Given the description of an element on the screen output the (x, y) to click on. 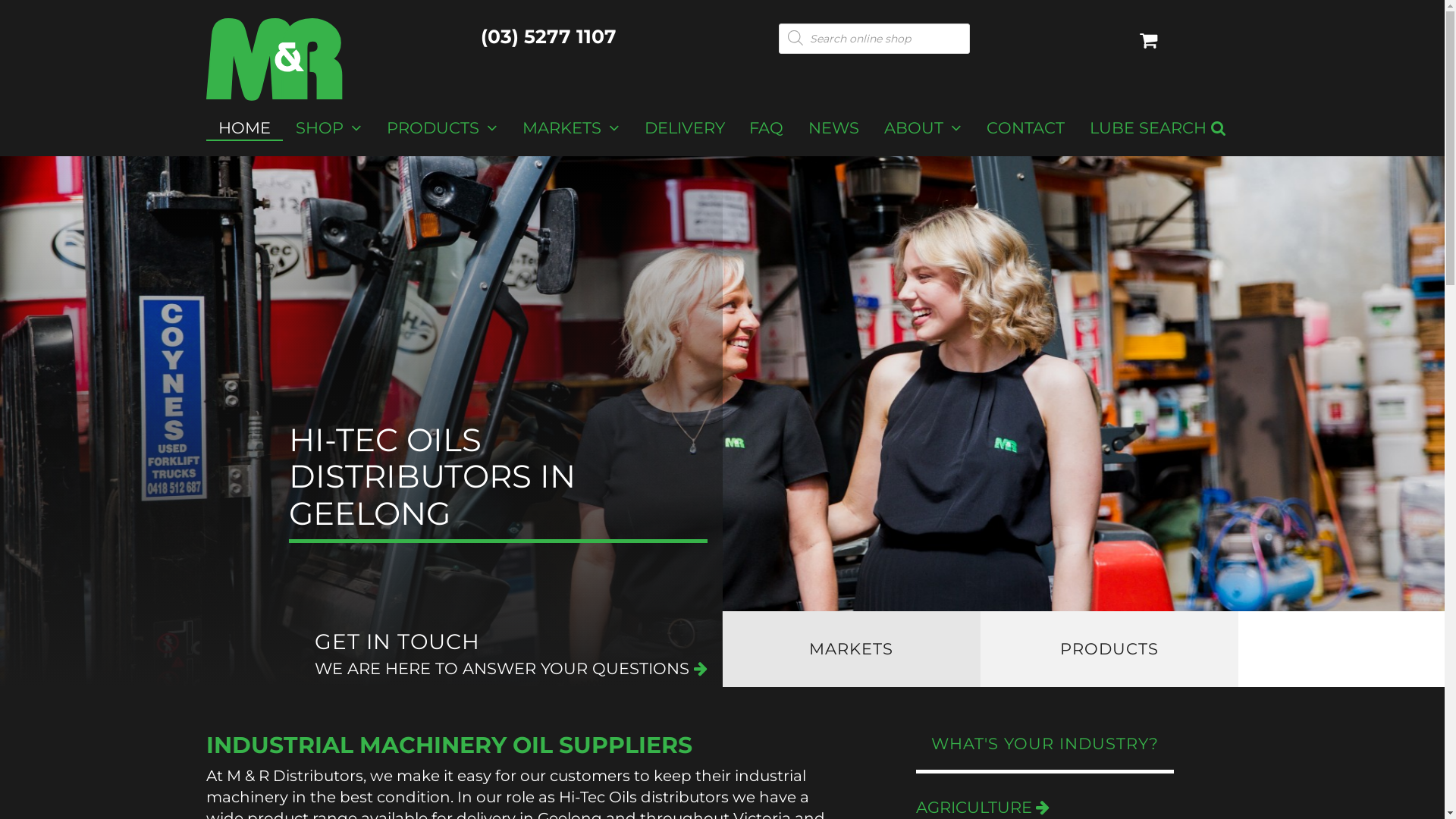
LUBE SEARCH Element type: text (1158, 127)
CONTACT Element type: text (1025, 127)
NEWS Element type: text (834, 127)
MARKETS Element type: text (850, 649)
DELIVERY Element type: text (684, 127)
HOME Element type: text (244, 127)
(03) 5277 1107 Element type: text (548, 36)
SHOP Element type: text (327, 127)
FAQ Element type: text (766, 127)
MARKETS Element type: text (570, 127)
PRODUCTS Element type: text (441, 127)
ABOUT Element type: text (923, 127)
PRODUCTS Element type: text (1109, 649)
WE ARE HERE TO ANSWER YOUR QUESTIONS Element type: text (509, 668)
